Given the description of an element on the screen output the (x, y) to click on. 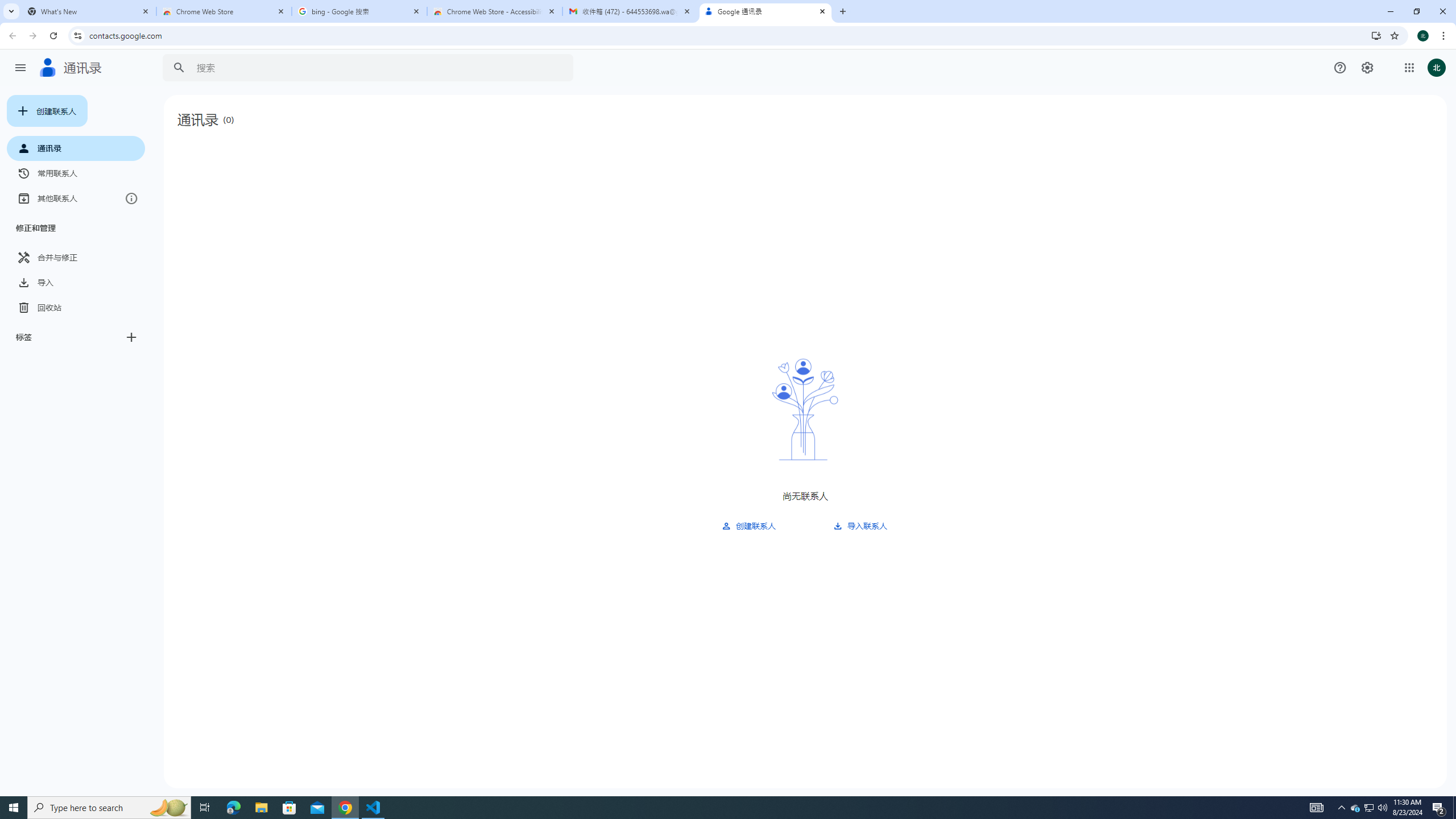
Chrome Web Store - Accessibility (494, 11)
What's New (88, 11)
